Given the description of an element on the screen output the (x, y) to click on. 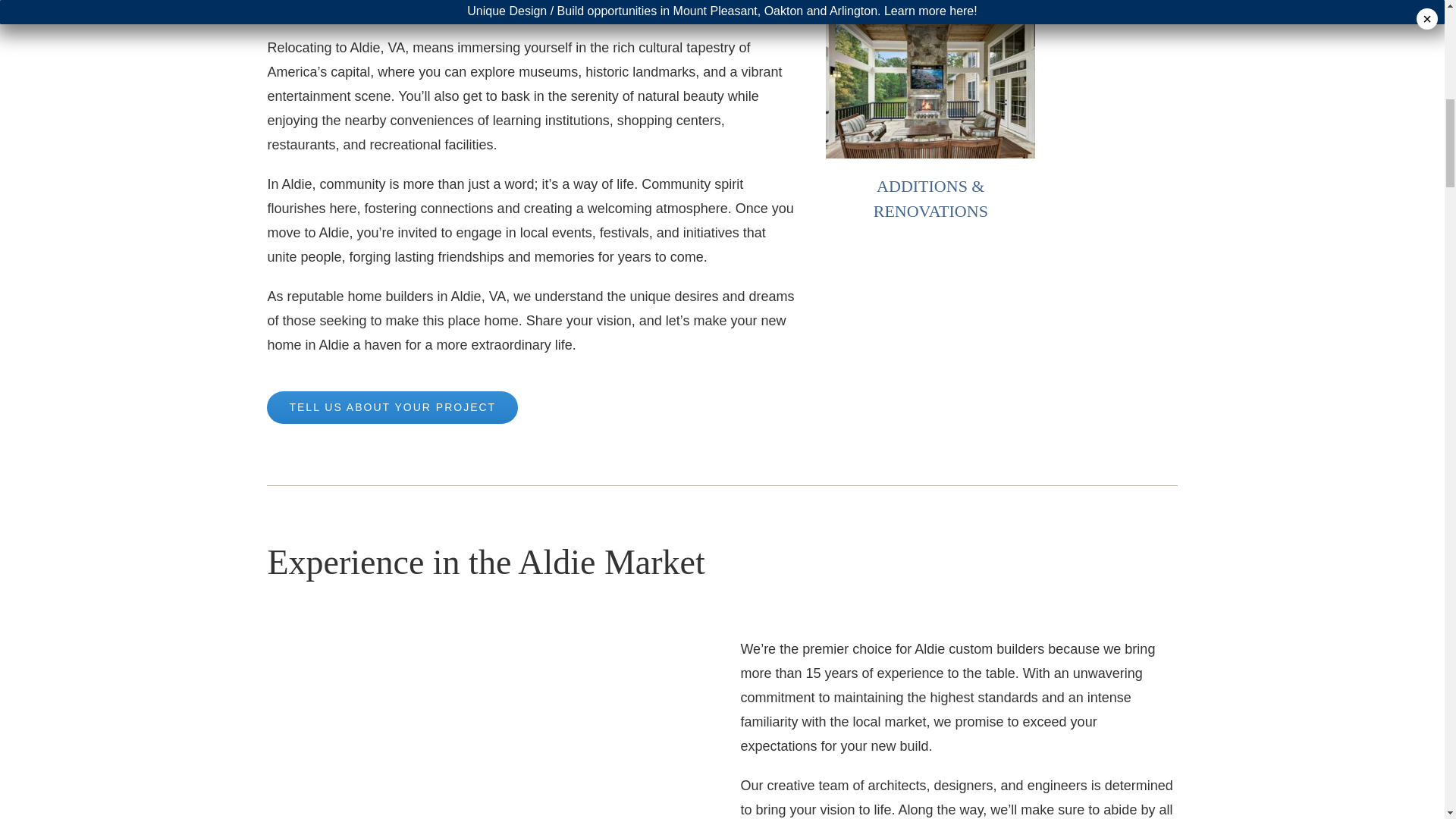
Night-Front-Exterior-of-a-custom-home (484, 728)
